Given the description of an element on the screen output the (x, y) to click on. 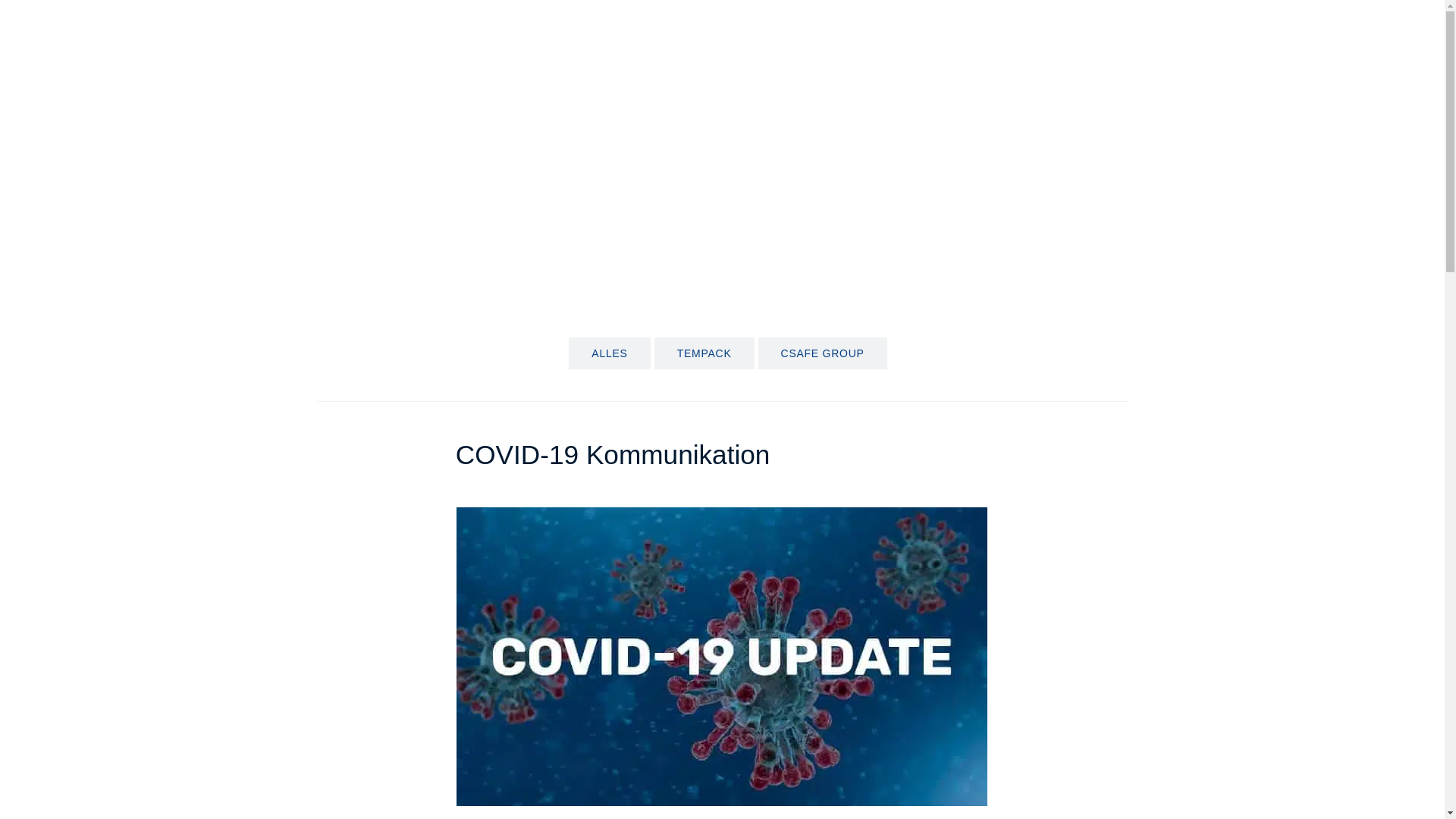
ALLES (609, 353)
Tempack (339, 246)
CSAFE GROUP (822, 353)
TEMPACK (704, 353)
